Given the description of an element on the screen output the (x, y) to click on. 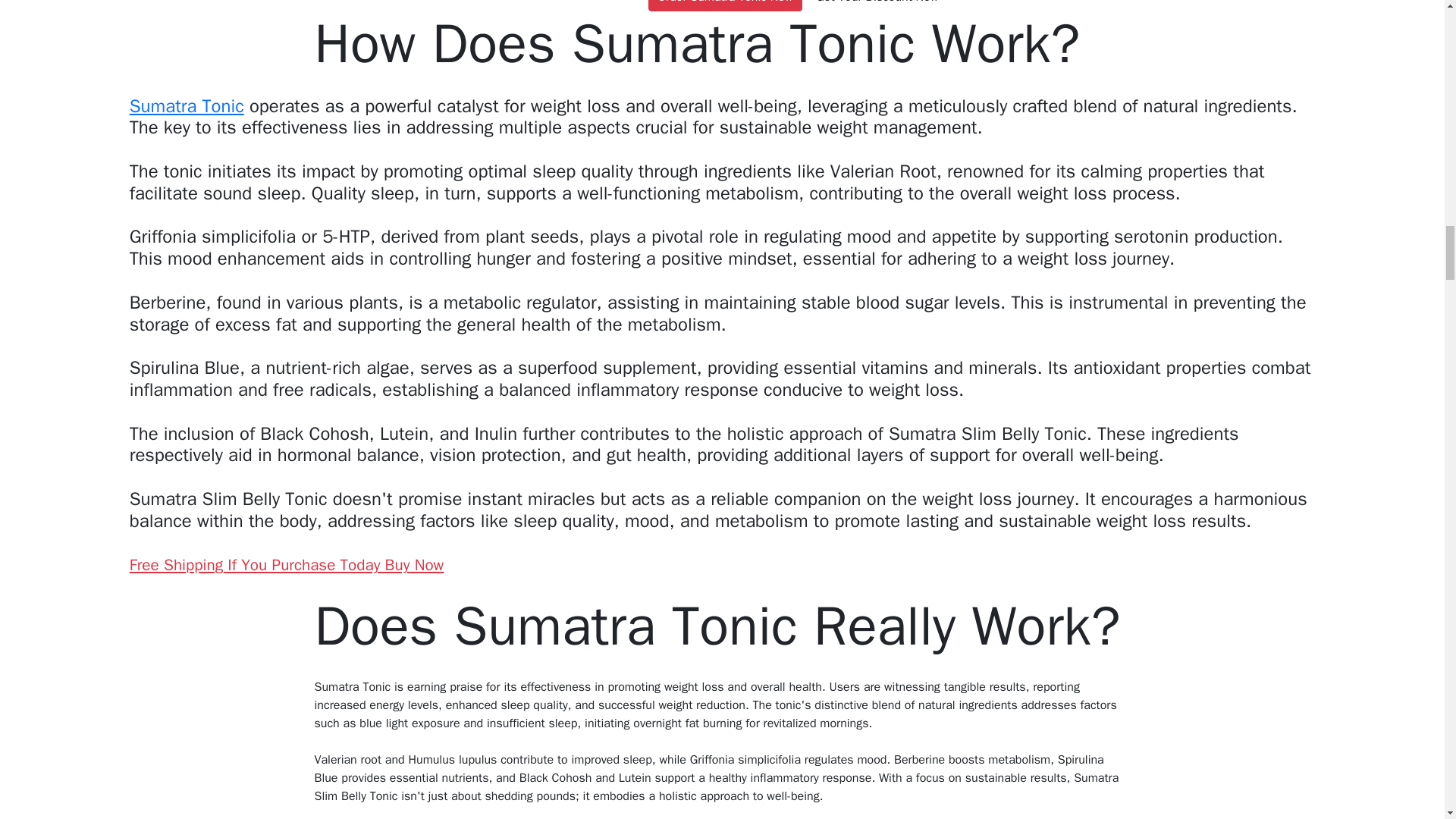
Get Your Discount Now (876, 5)
Order Sumatra Tonic Now (724, 5)
Free Shipping If You Purchase Today Buy Now (286, 564)
Sumatra Tonic (186, 106)
